Given the description of an element on the screen output the (x, y) to click on. 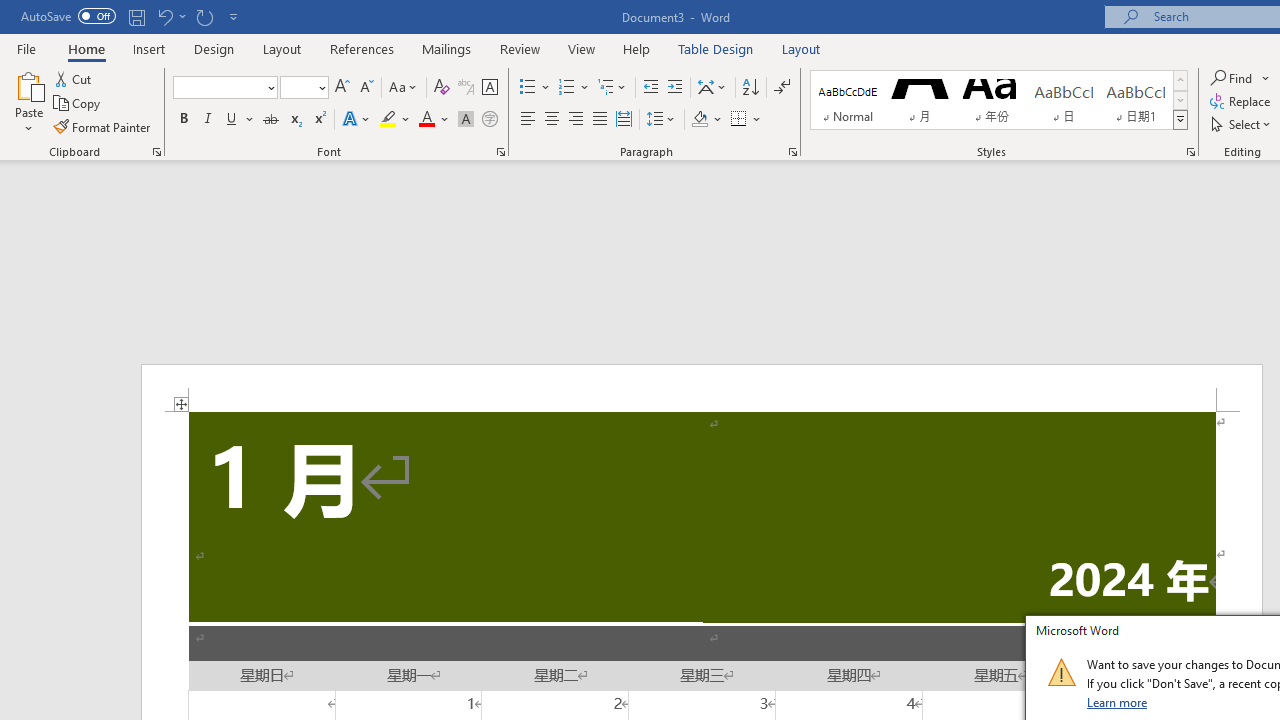
Paragraph... (792, 151)
Header -Section 1- (701, 387)
Sort... (750, 87)
Increase Indent (675, 87)
Center (552, 119)
Character Border (489, 87)
AutomationID: QuickStylesGallery (999, 99)
Copy (78, 103)
Row up (1179, 79)
